Given the description of an element on the screen output the (x, y) to click on. 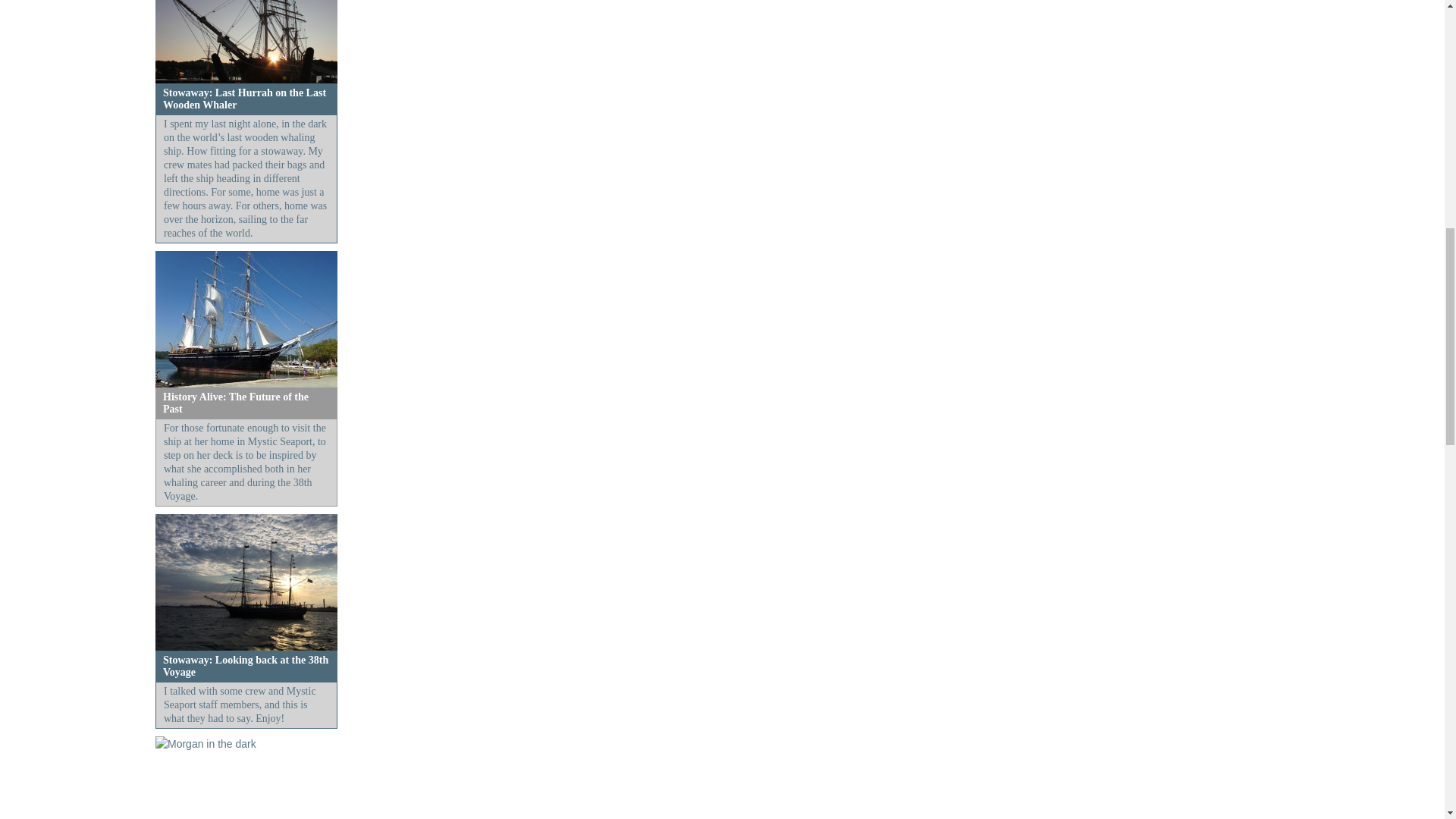
History Alive: The Future of the Past (235, 402)
Stowaway: Last Hurrah on the Last Wooden Whaler (244, 98)
Stowaway: Looking back at the 38th Voyage (246, 666)
